Given the description of an element on the screen output the (x, y) to click on. 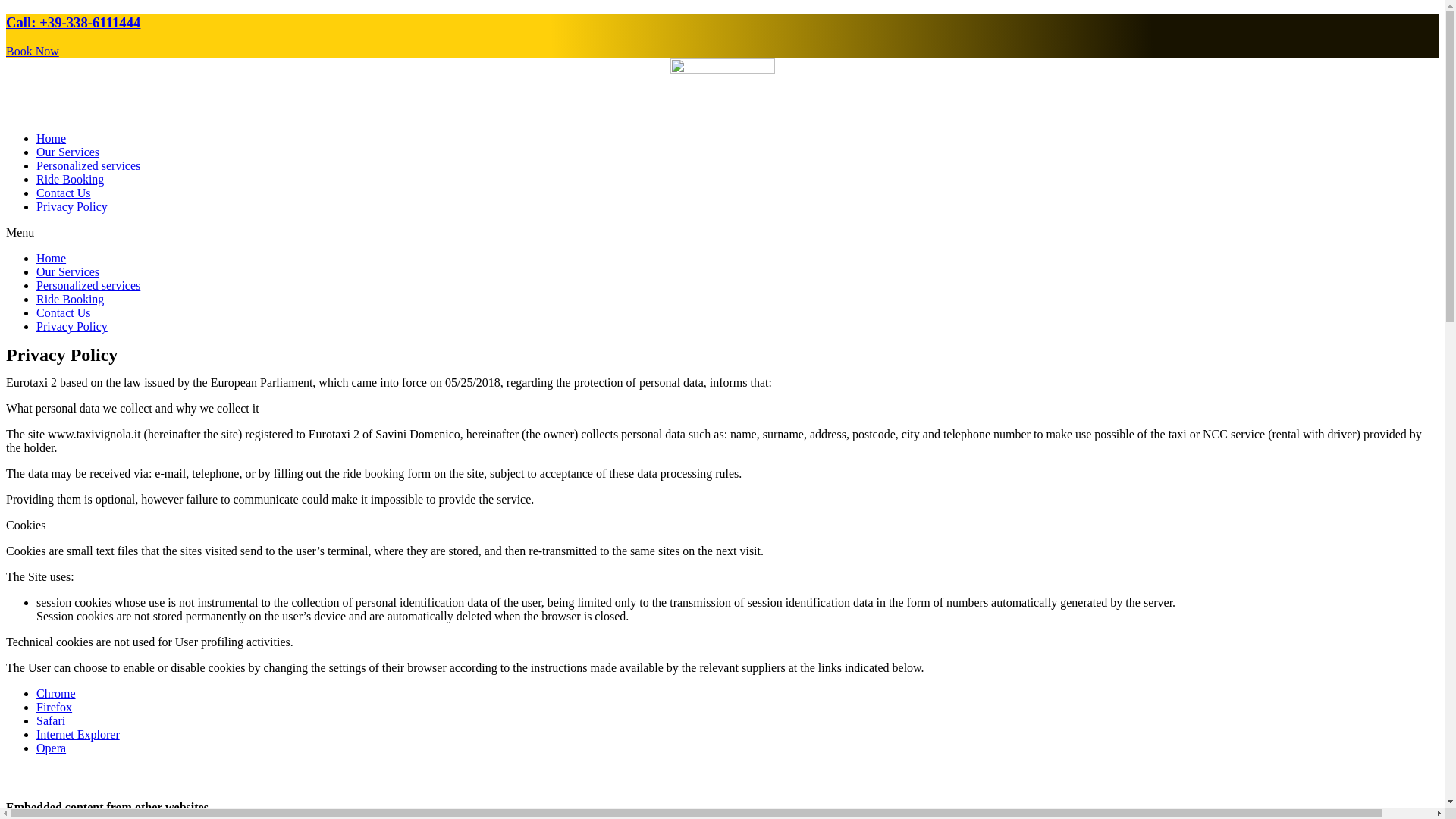
Personalized services (87, 285)
Ride Booking (69, 298)
Home (50, 137)
Privacy Policy (71, 326)
Contact Us (63, 312)
Our Services (67, 271)
Privacy Policy (71, 205)
Our Services (67, 151)
Chrome (55, 693)
Ride Booking (69, 178)
Contact Us (63, 192)
Personalized services (87, 164)
Internet Explorer (77, 734)
Safari (50, 720)
Firefox (53, 707)
